Given the description of an element on the screen output the (x, y) to click on. 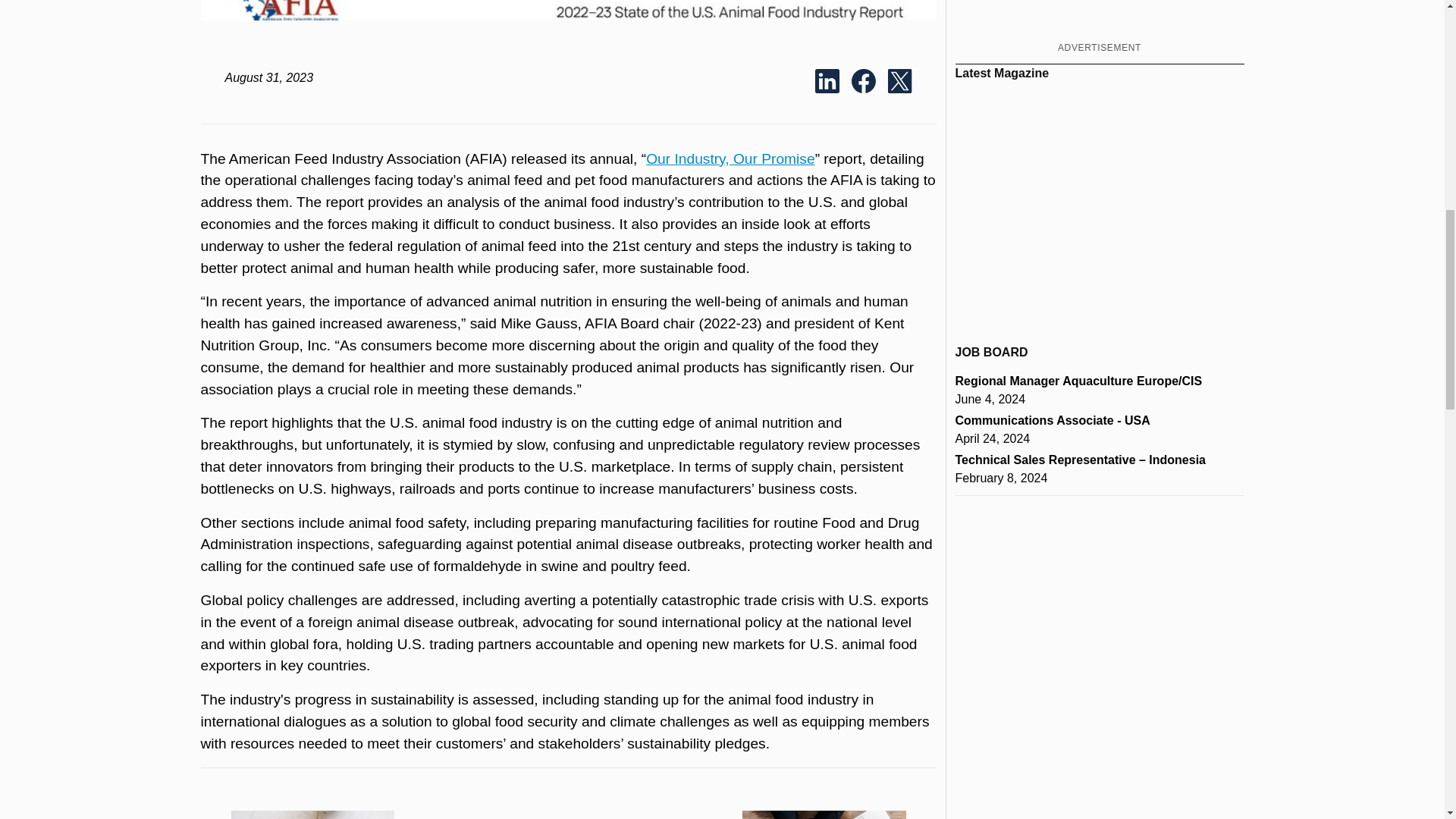
Magazine viewer (1099, 206)
3rd party ad content (1098, 18)
